Given the description of an element on the screen output the (x, y) to click on. 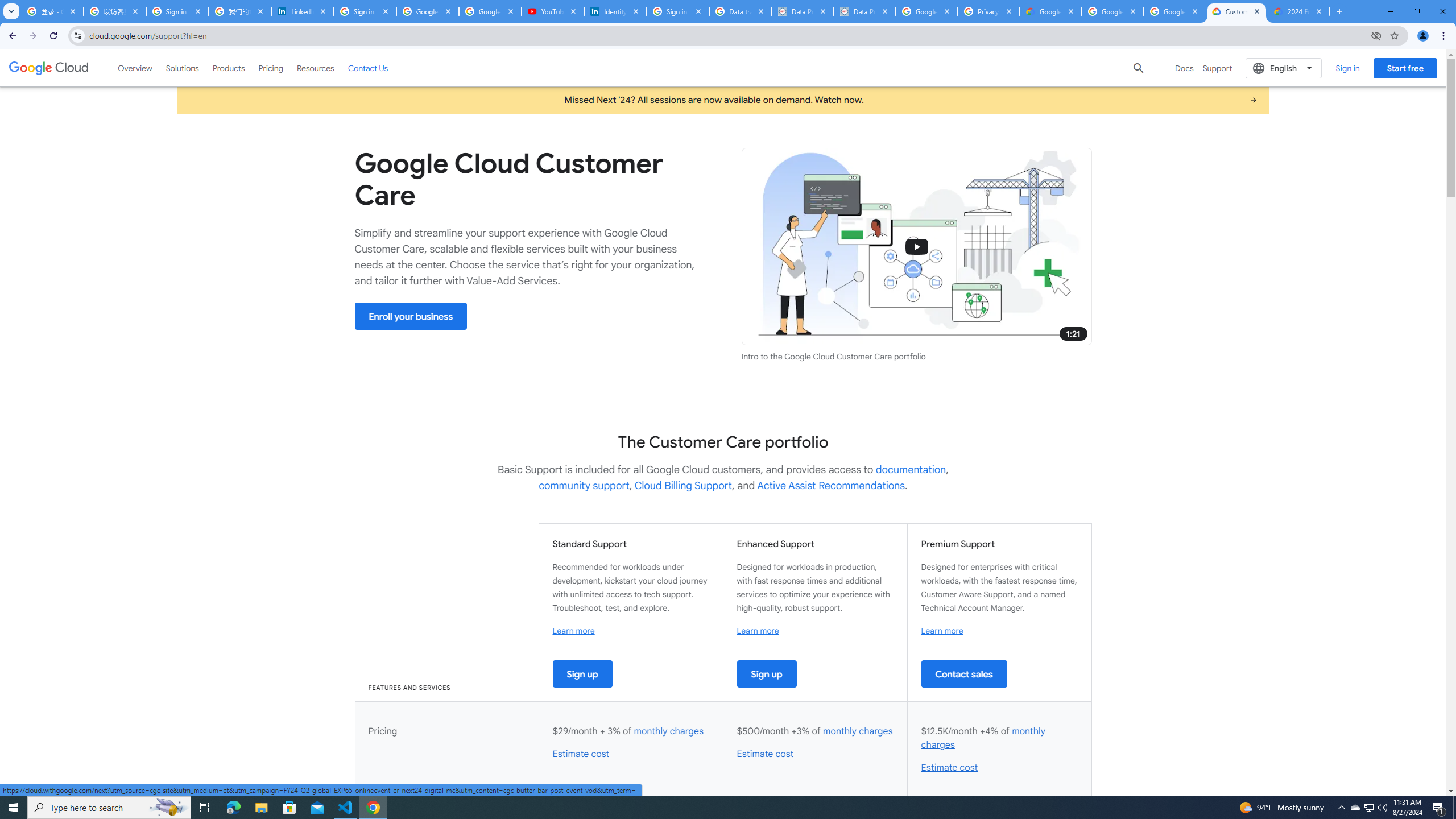
Docs (1183, 67)
Sign in - Google Accounts (365, 11)
Google Cloud Terms Directory | Google Cloud (1050, 11)
LinkedIn Privacy Policy (302, 11)
Products (228, 67)
documentation (910, 469)
Sign in - Google Accounts (177, 11)
monthly charges (982, 738)
